Given the description of an element on the screen output the (x, y) to click on. 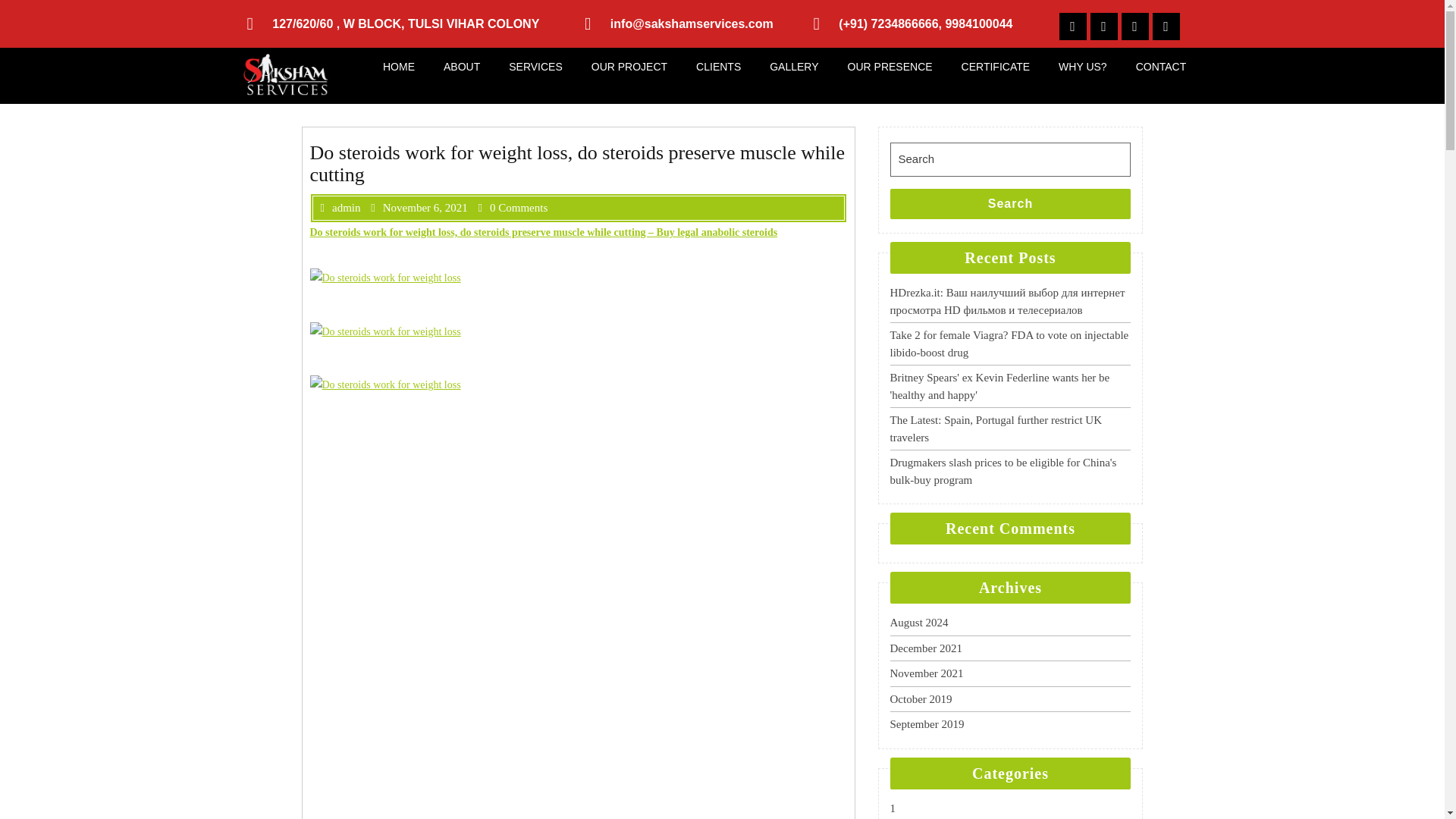
ABOUT (462, 66)
CLIENTS (718, 66)
OUR PROJECT (628, 66)
Do steroids work for weight loss (384, 277)
Do steroids work for weight loss (384, 331)
WHY US? (1082, 66)
SERVICES (535, 66)
HOME (398, 66)
Do steroids work for weight loss (384, 384)
CONTACT (1161, 66)
